Given the description of an element on the screen output the (x, y) to click on. 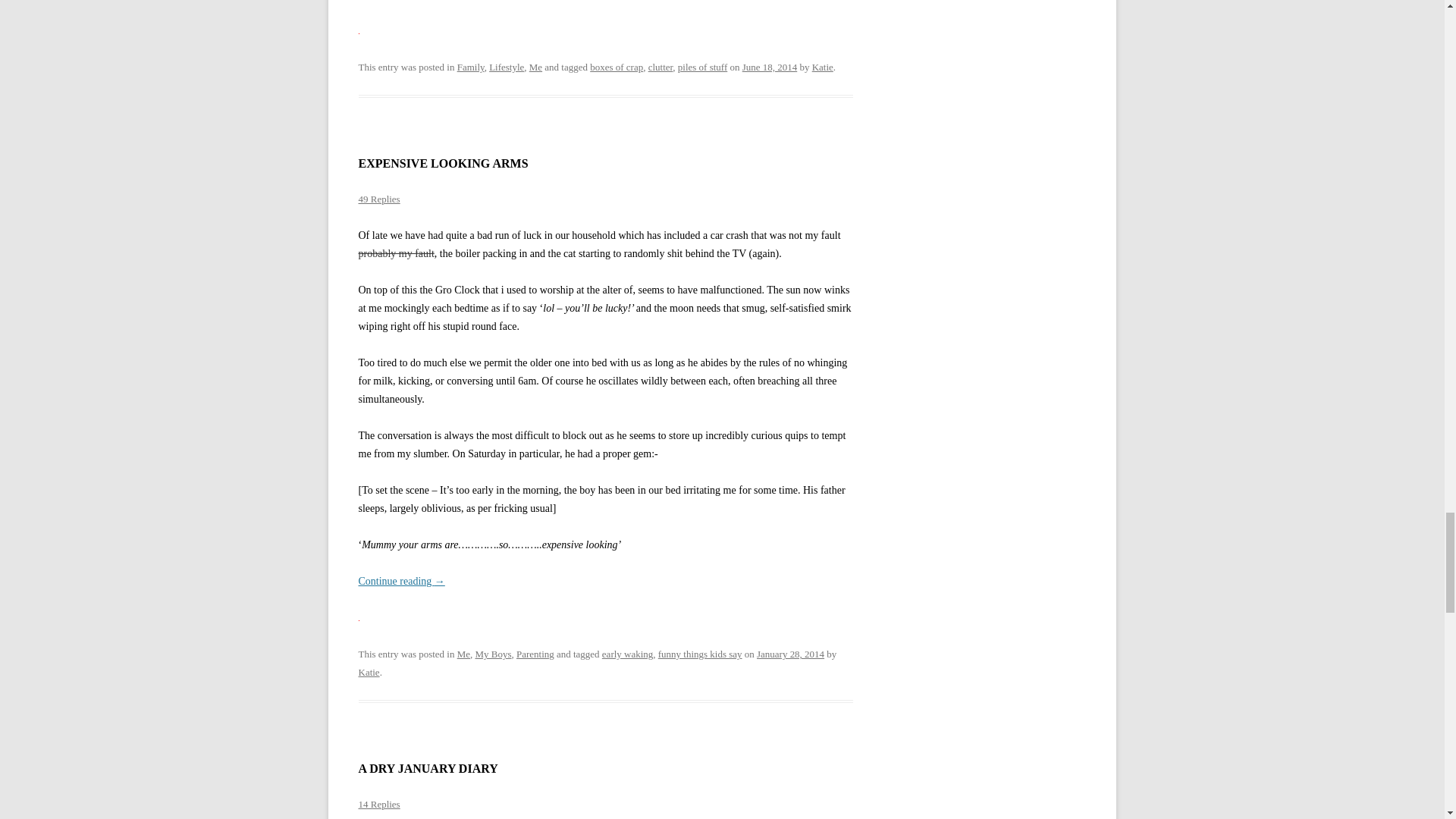
Me (535, 66)
View all posts by Katie (368, 672)
8:57 pm (769, 66)
Lifestyle (506, 66)
Family (470, 66)
7:00 am (790, 654)
View all posts by Katie (822, 66)
